Given the description of an element on the screen output the (x, y) to click on. 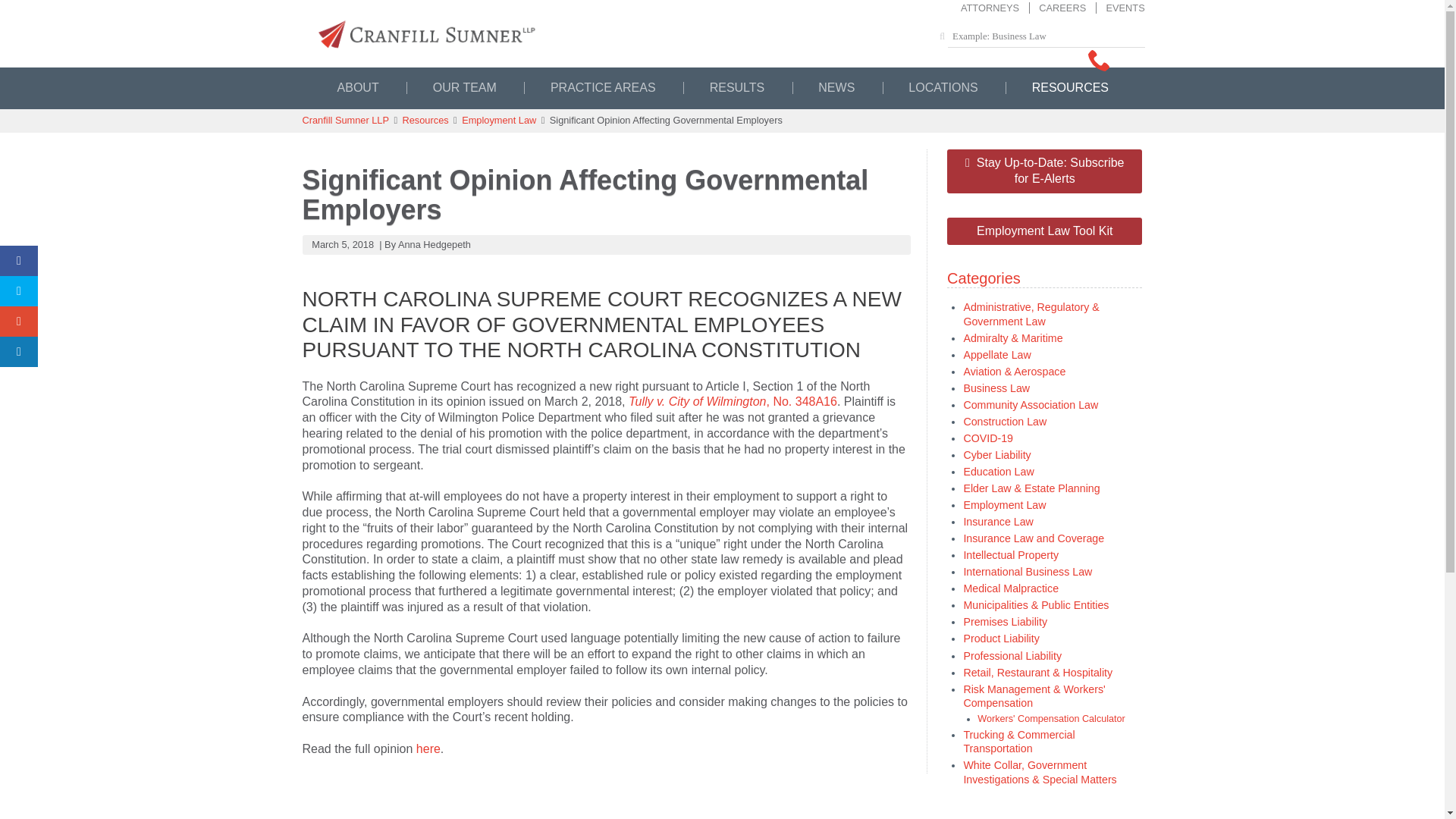
CAREERS (1057, 7)
Go to the Employment Law category archives. (498, 120)
Search for: (1045, 37)
Resources (424, 120)
Appellate Law (996, 354)
ATTORNEYS (989, 7)
  Stay Up-to-Date: Subscribe for E-Alerts (1044, 171)
ABOUT (357, 87)
OUR TEAM (464, 87)
RESOURCES (1070, 87)
